Given the description of an element on the screen output the (x, y) to click on. 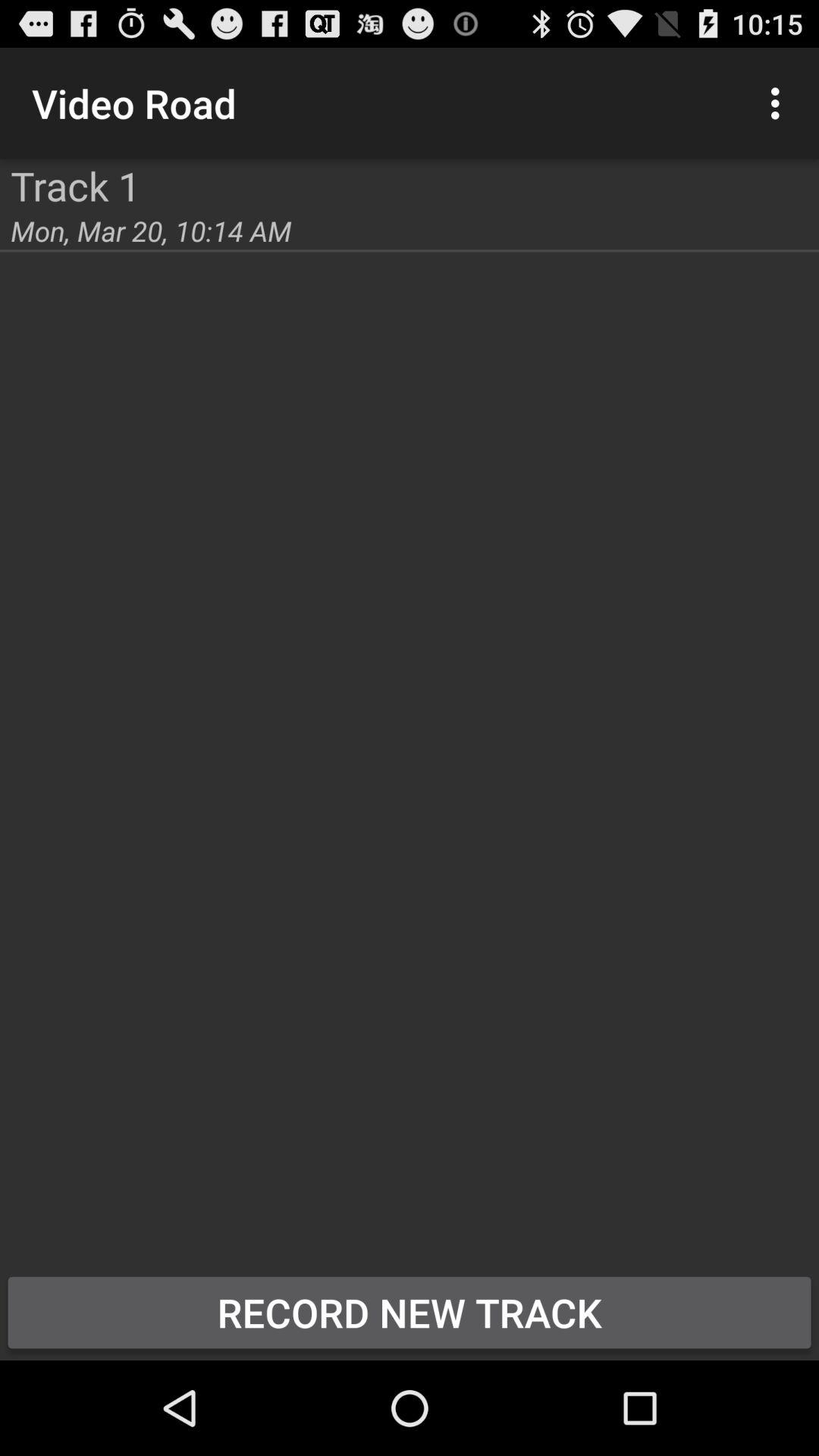
open icon to the right of the video road item (779, 103)
